Given the description of an element on the screen output the (x, y) to click on. 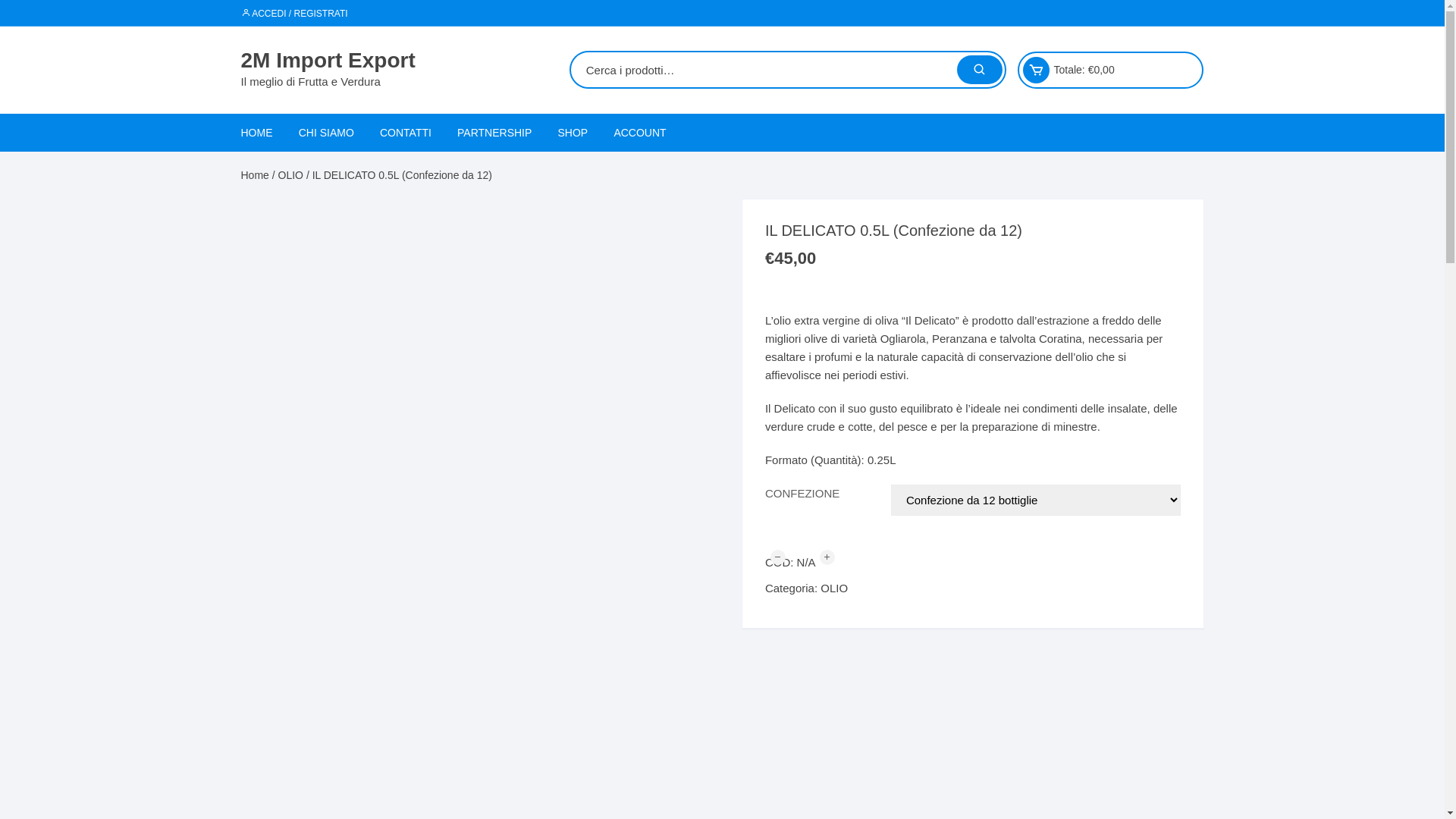
Home Element type: text (255, 175)
OLIO Element type: text (290, 175)
PARTNERSHIP Element type: text (493, 132)
2M Import Export Element type: text (328, 60)
CONTATTI Element type: text (405, 132)
SHOP Element type: text (572, 132)
ACCEDI / REGISTRATI Element type: text (294, 13)
ACCOUNT Element type: text (639, 132)
CHI SIAMO Element type: text (326, 132)
ORDINI Element type: text (641, 205)
PROFILO Element type: text (641, 169)
HOME Element type: text (262, 132)
REGISTRATI Element type: text (696, 169)
OLIO Element type: text (833, 587)
